Given the description of an element on the screen output the (x, y) to click on. 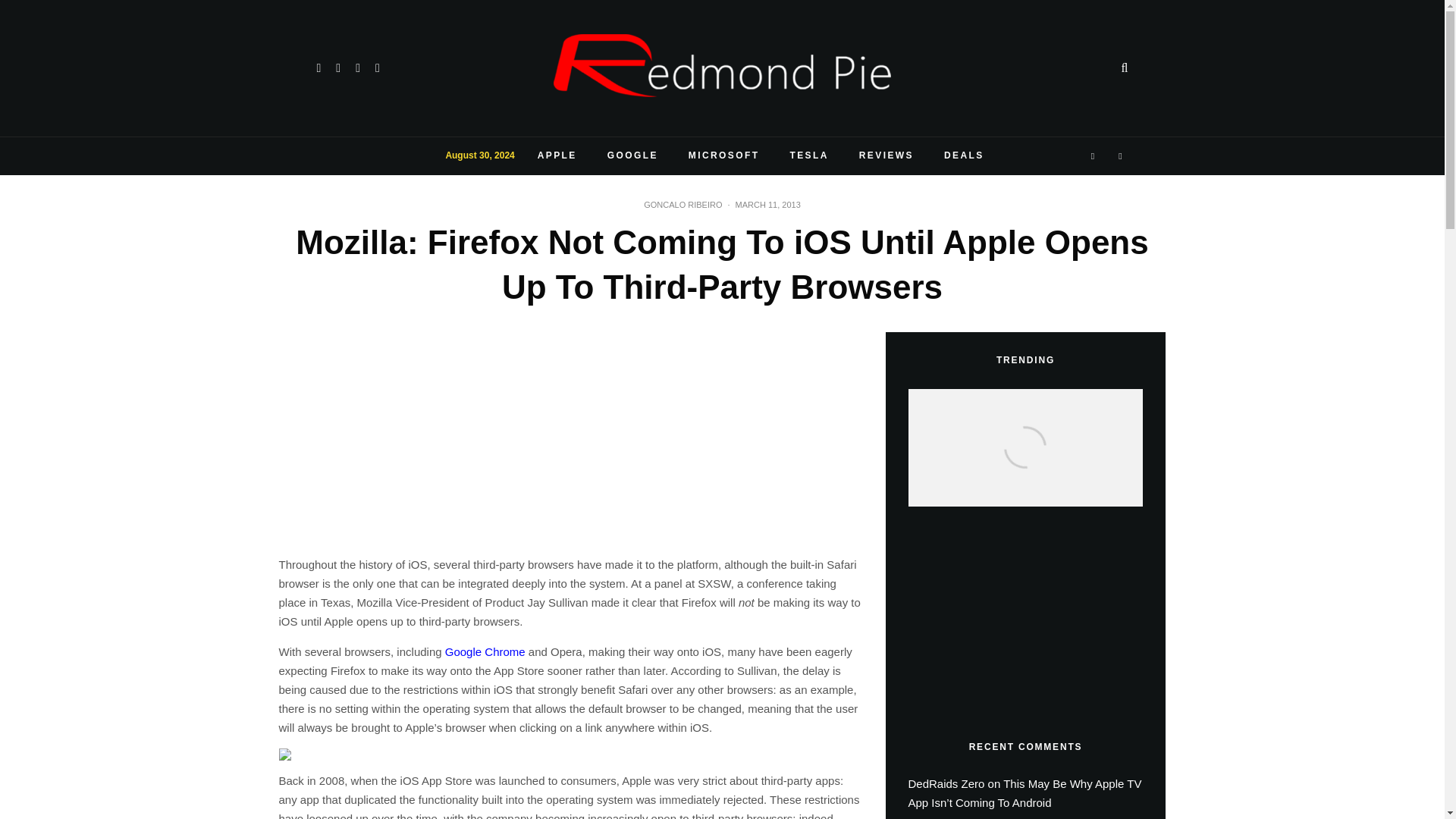
MICROSOFT (723, 156)
GOOGLE (632, 156)
APPLE (557, 156)
TESLA (808, 156)
